Given the description of an element on the screen output the (x, y) to click on. 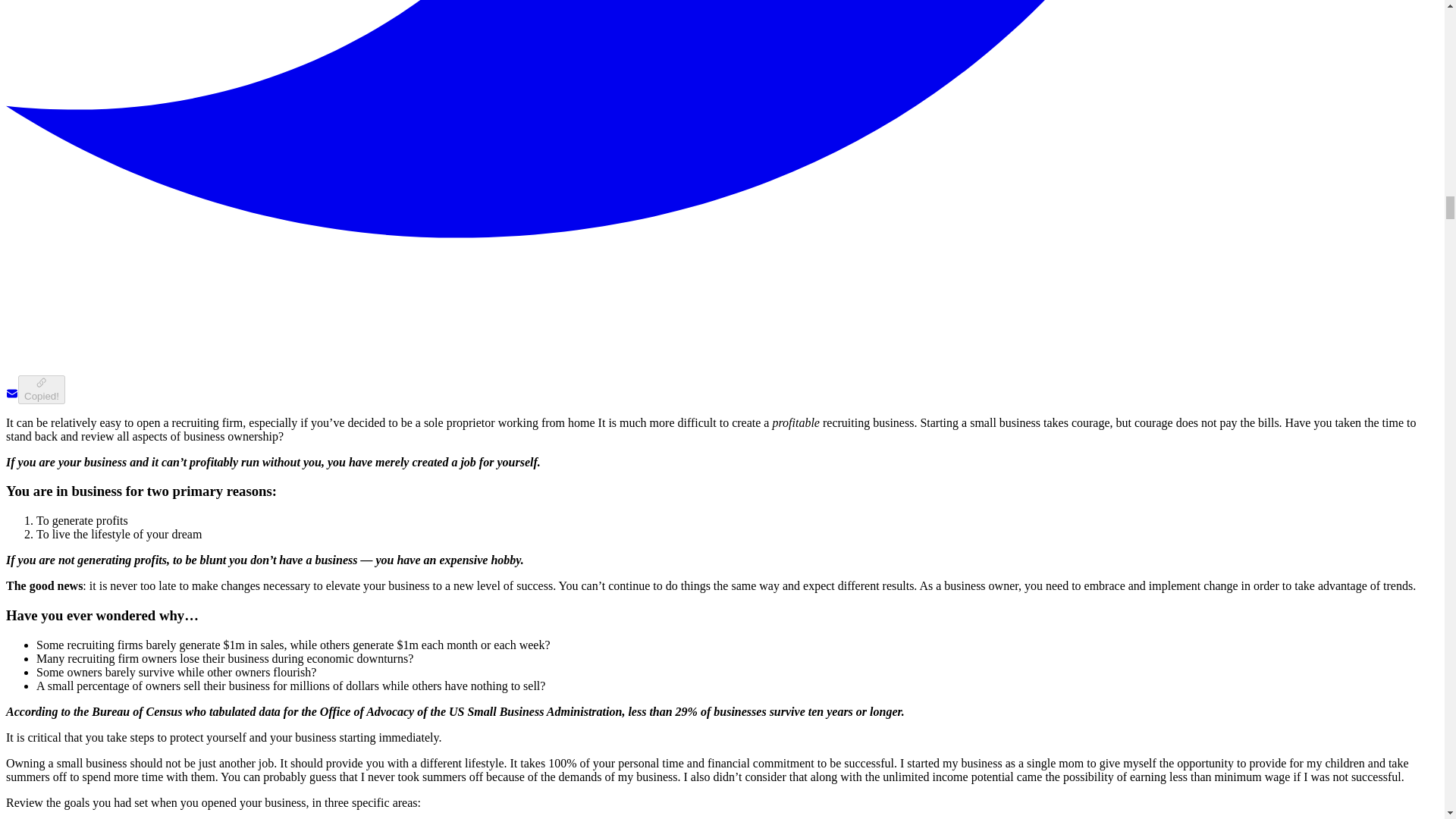
Copied! (41, 389)
